Given the description of an element on the screen output the (x, y) to click on. 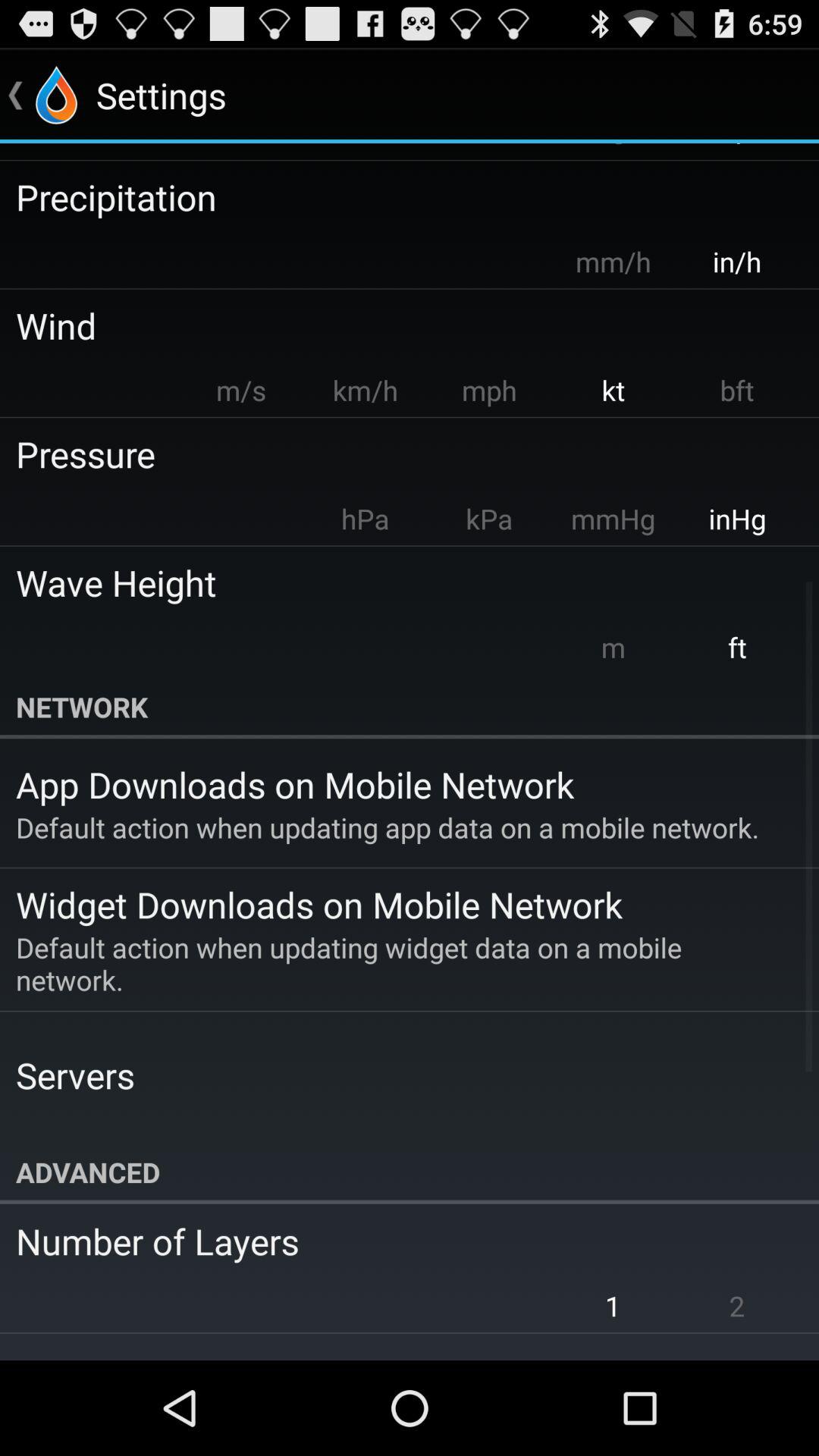
click the item next to the km/h item (241, 389)
